Given the description of an element on the screen output the (x, y) to click on. 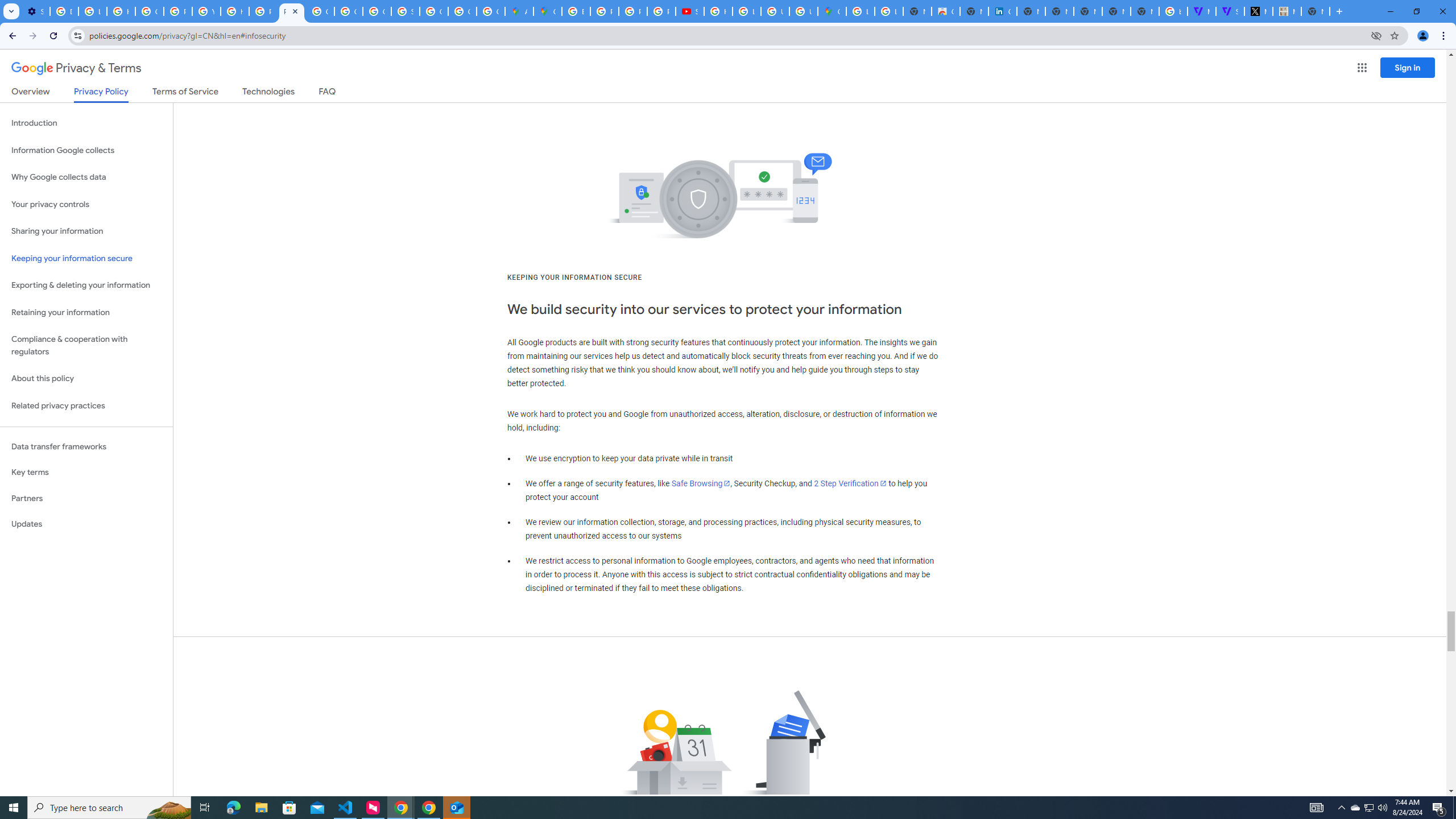
Privacy Help Center - Policies Help (632, 11)
Privacy Help Center - Policies Help (263, 11)
Retaining your information (86, 312)
Related privacy practices (86, 405)
YouTube (206, 11)
Settings - Customize profile (35, 11)
Sign in - Google Accounts (405, 11)
